Given the description of an element on the screen output the (x, y) to click on. 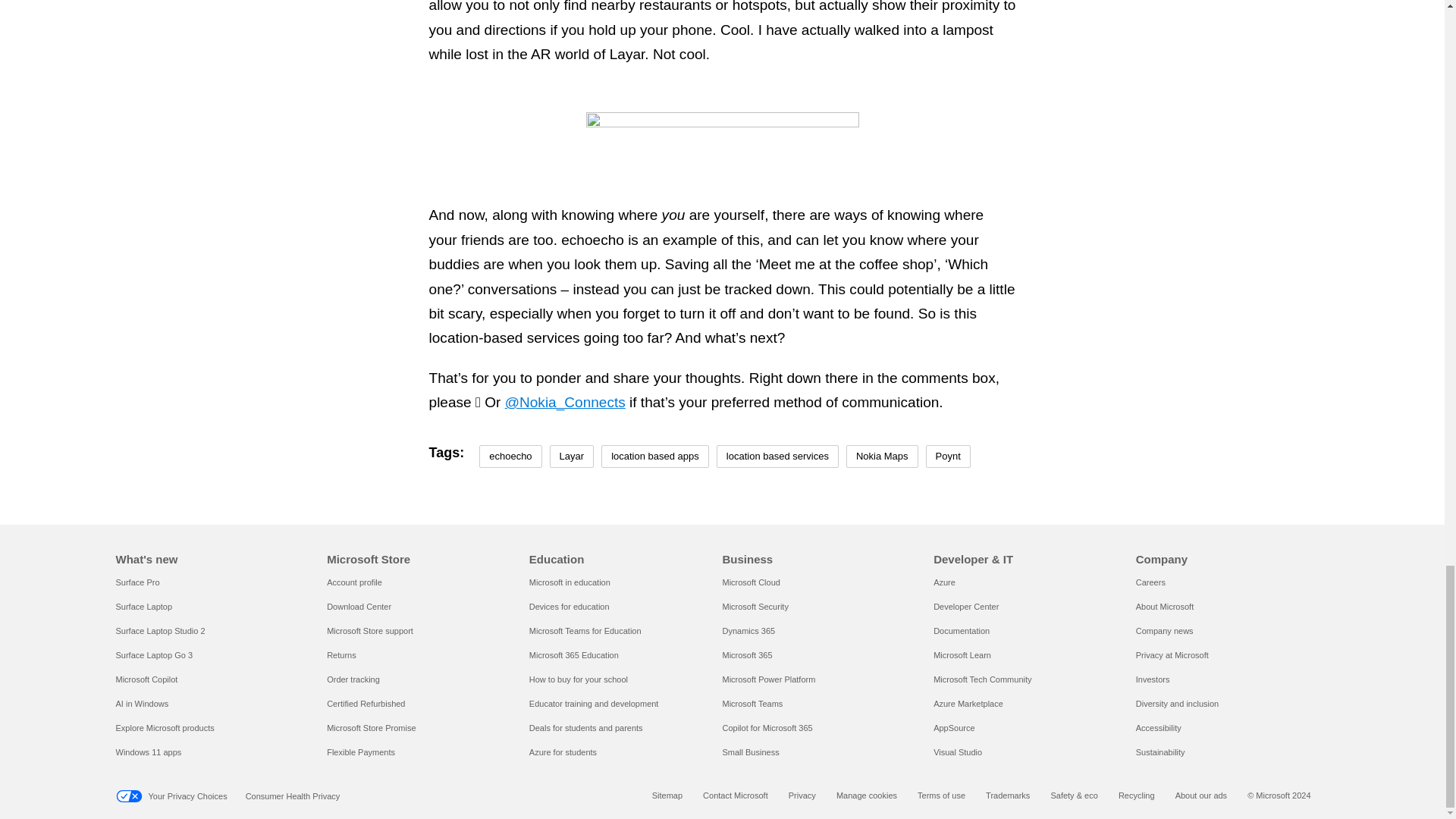
location based services Tag (777, 456)
Nokia Maps Tag (881, 456)
Layar Tag (572, 456)
echoecho Tag (510, 456)
location based apps Tag (655, 456)
Poynt Tag (948, 456)
